Given the description of an element on the screen output the (x, y) to click on. 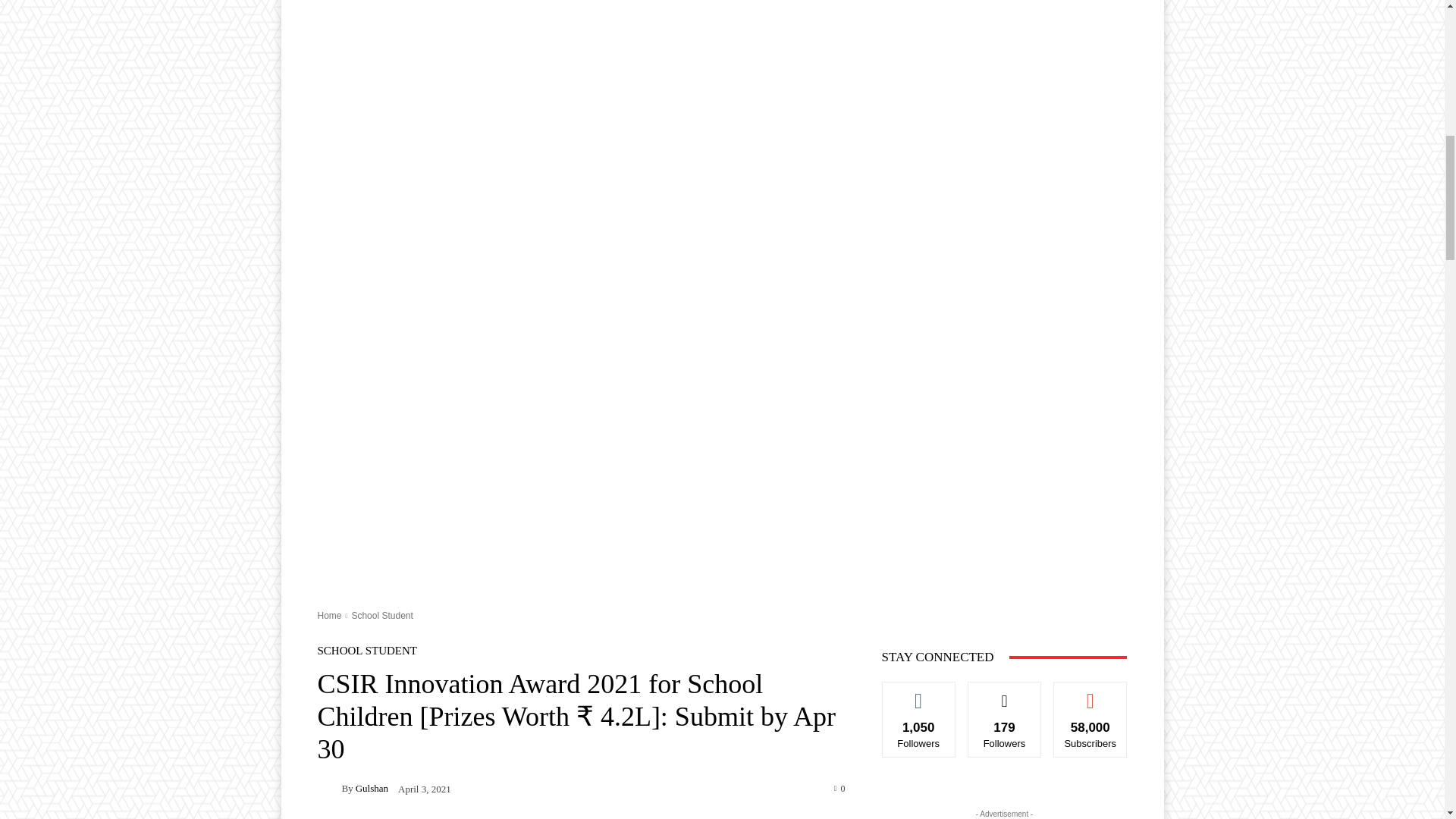
View all posts in School Student (381, 615)
Advertisement (722, 11)
